Given the description of an element on the screen output the (x, y) to click on. 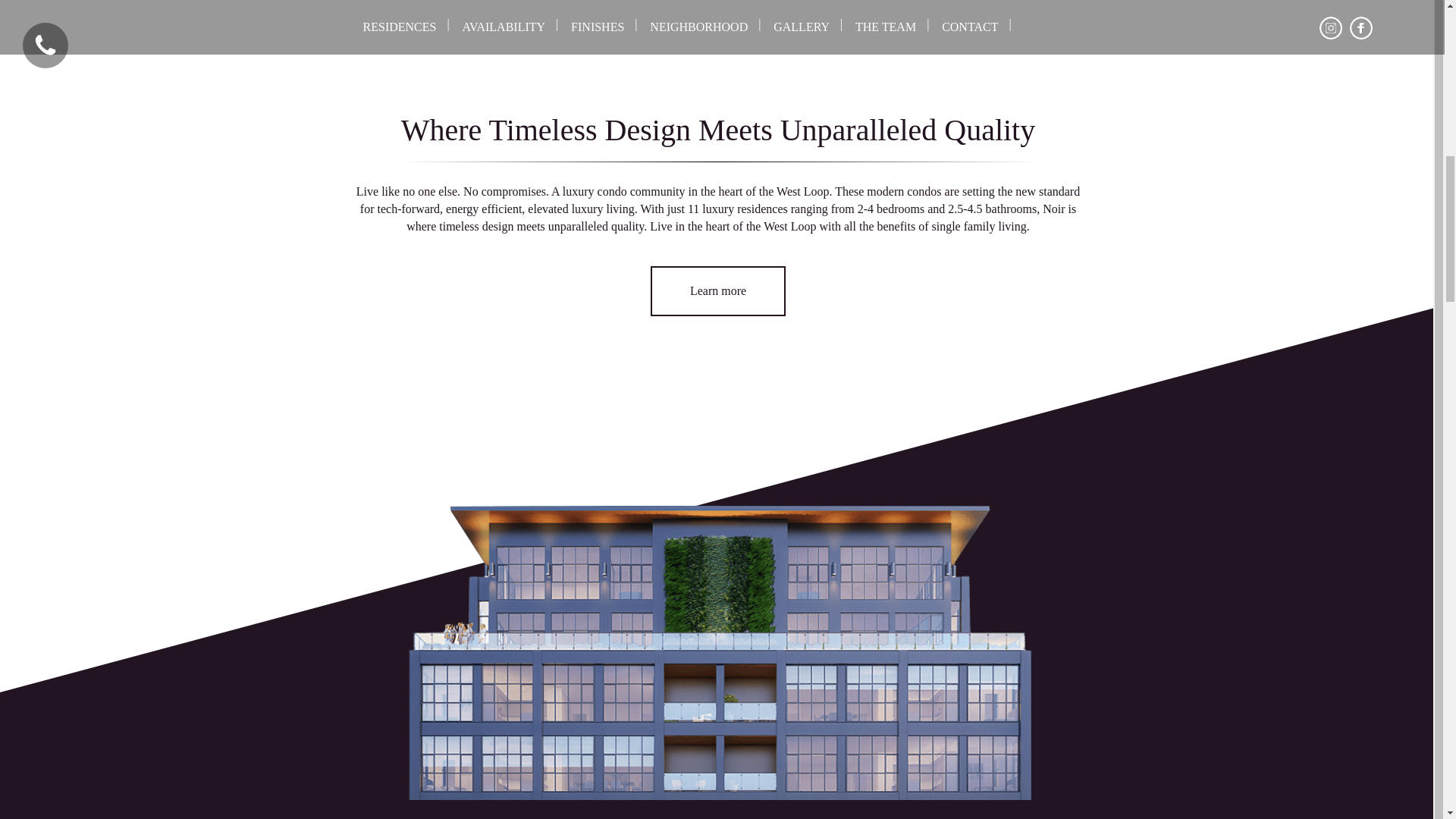
Learn more (718, 291)
